Given the description of an element on the screen output the (x, y) to click on. 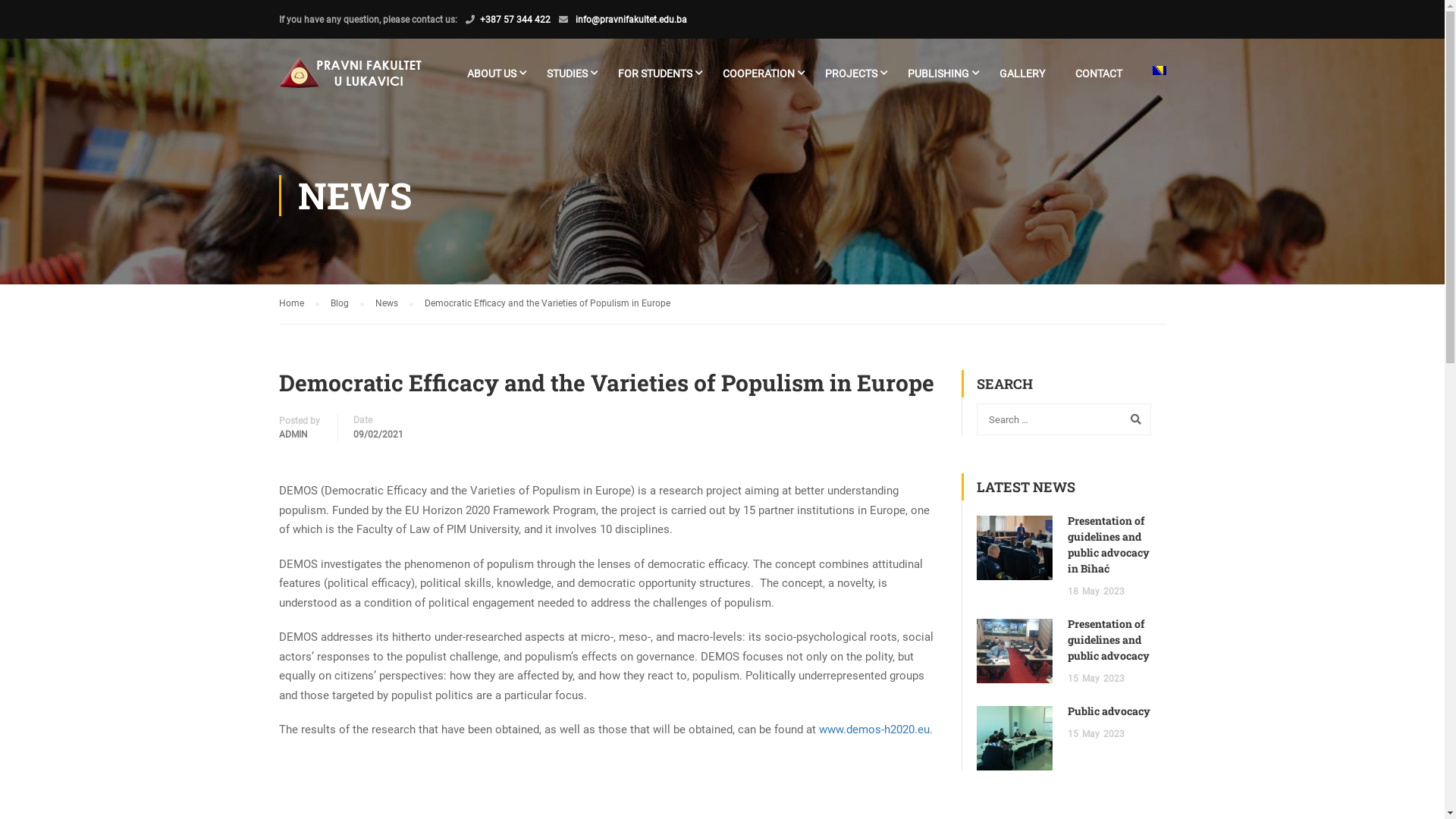
ADMIN Element type: text (293, 434)
News Element type: text (393, 303)
PROJECTS Element type: text (850, 80)
Blog Element type: text (347, 303)
Public advocacy Element type: text (1108, 710)
CONTACT Element type: text (1098, 80)
+387 57 344 422 Element type: text (514, 19)
info@pravnifakultet.edu.ba Element type: text (630, 19)
Presentation of guidelines and public advocacy Element type: text (1108, 639)
Pravni fakultet u Lukavici - PIM Univerzitet Element type: hover (352, 80)
GALLERY Element type: text (1022, 80)
Bosnian Element type: hover (1159, 70)
Search Element type: text (1132, 419)
Login Element type: text (859, 438)
Home Element type: text (299, 303)
www.demos-h2020.eu Element type: text (874, 729)
